Given the description of an element on the screen output the (x, y) to click on. 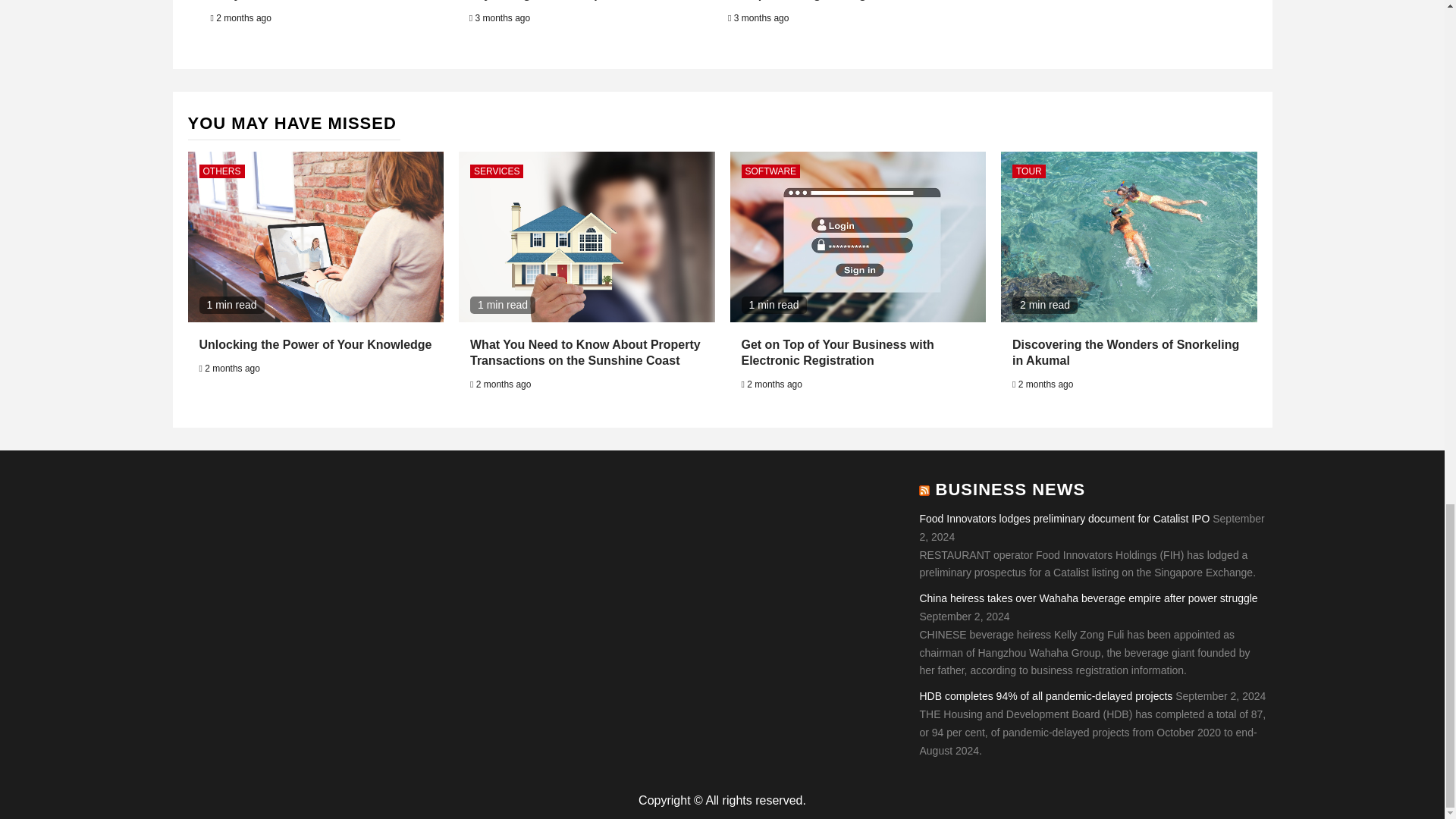
Food Innovators lodges preliminary document for Catalist IPO (1063, 518)
Unlocking the Power of Your Knowledge (314, 344)
SOFTWARE (770, 171)
Discovering the Wonders of Snorkeling in Akumal (1125, 352)
TOUR (1028, 171)
OTHERS (221, 171)
BUSINESS NEWS (1011, 488)
